Given the description of an element on the screen output the (x, y) to click on. 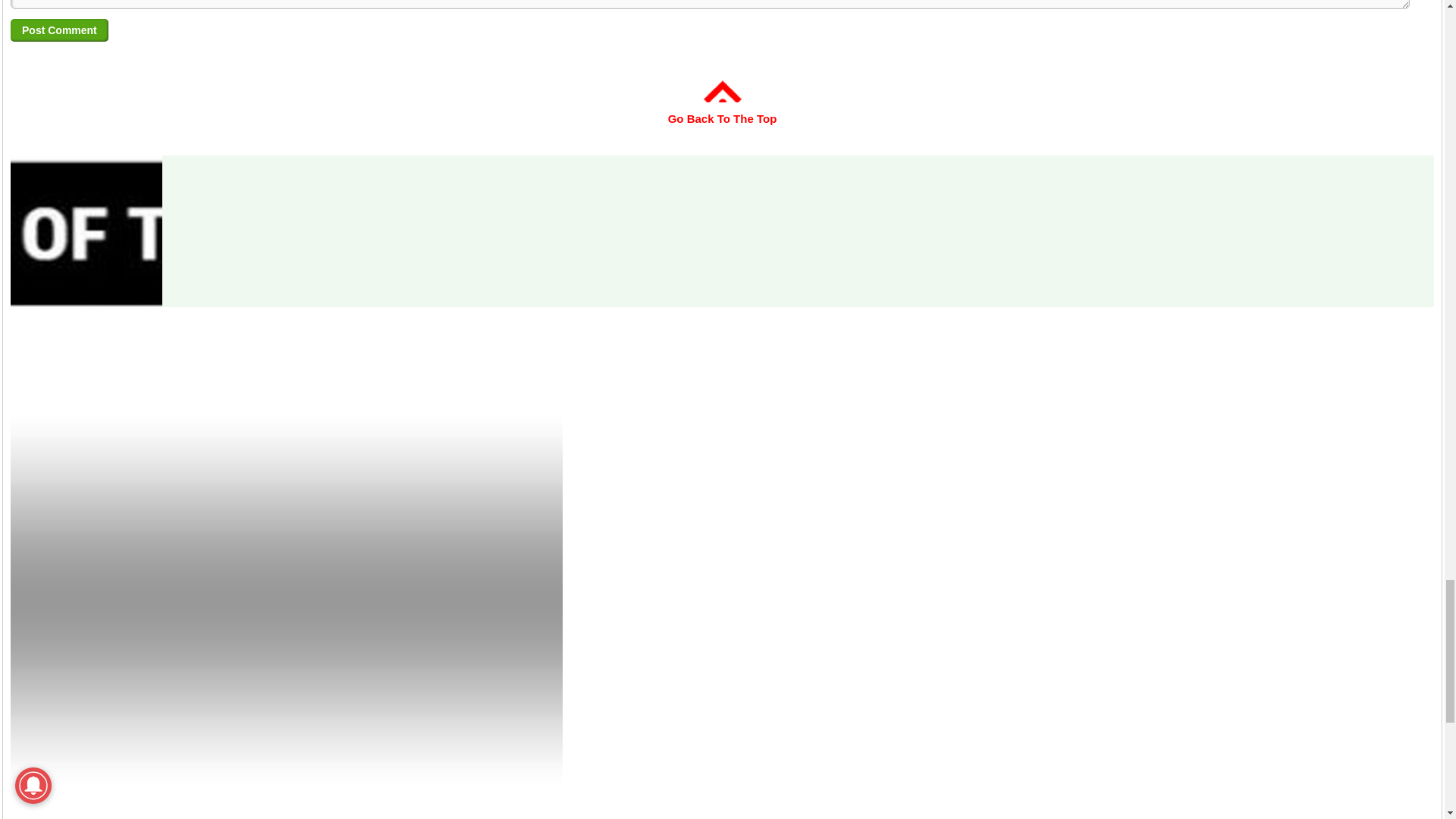
Go Back To The Top (722, 108)
Post Comment (58, 29)
Post Comment (58, 29)
